Given the description of an element on the screen output the (x, y) to click on. 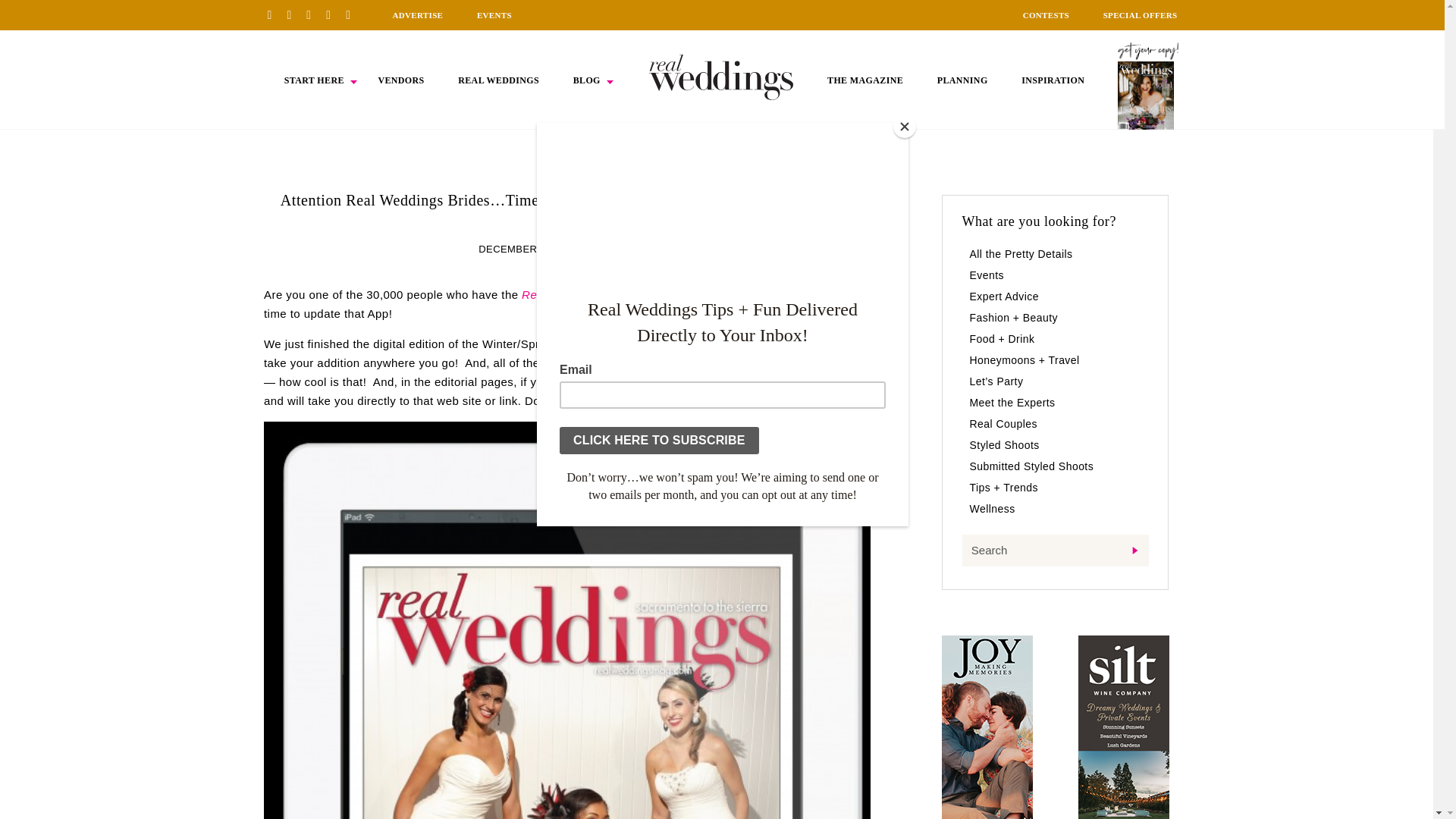
Pinterest (274, 14)
Search (1054, 550)
START HERE (313, 80)
VENDORS (400, 80)
HOME (721, 76)
PLANNING (962, 80)
Real Weddings (675, 343)
LET'S PARTY (623, 248)
REAL WEDDINGS (498, 80)
EVENTS (494, 14)
Real Weddings (561, 294)
CONTESTS (1045, 14)
Instagram (313, 14)
Search (1054, 550)
